Given the description of an element on the screen output the (x, y) to click on. 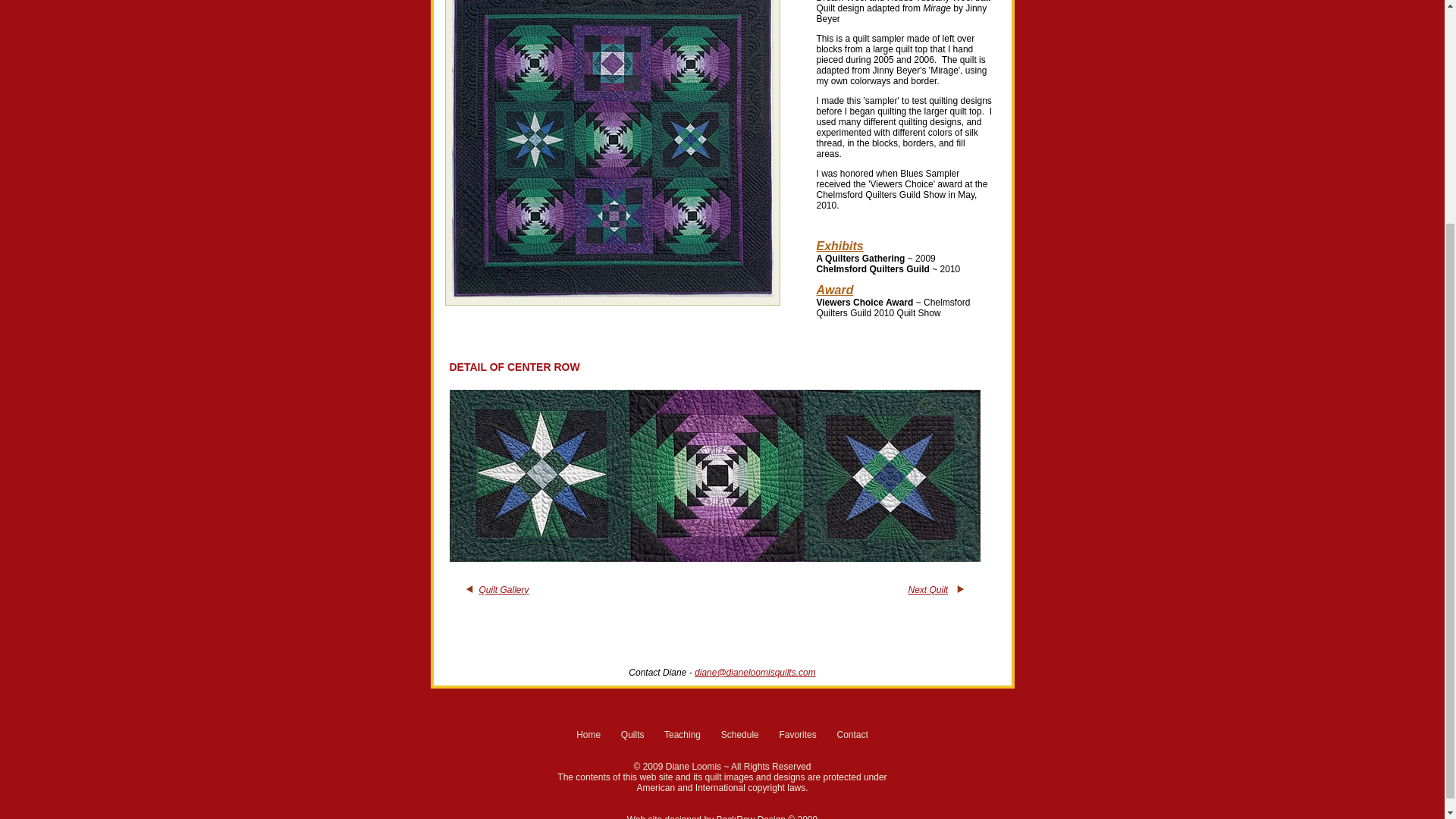
Teaching (681, 734)
Schedule (739, 734)
Quilt Gallery (504, 589)
Contact (851, 734)
Next Quilt (927, 589)
Favorites (796, 734)
Home (587, 734)
Quilts (633, 734)
